Given the description of an element on the screen output the (x, y) to click on. 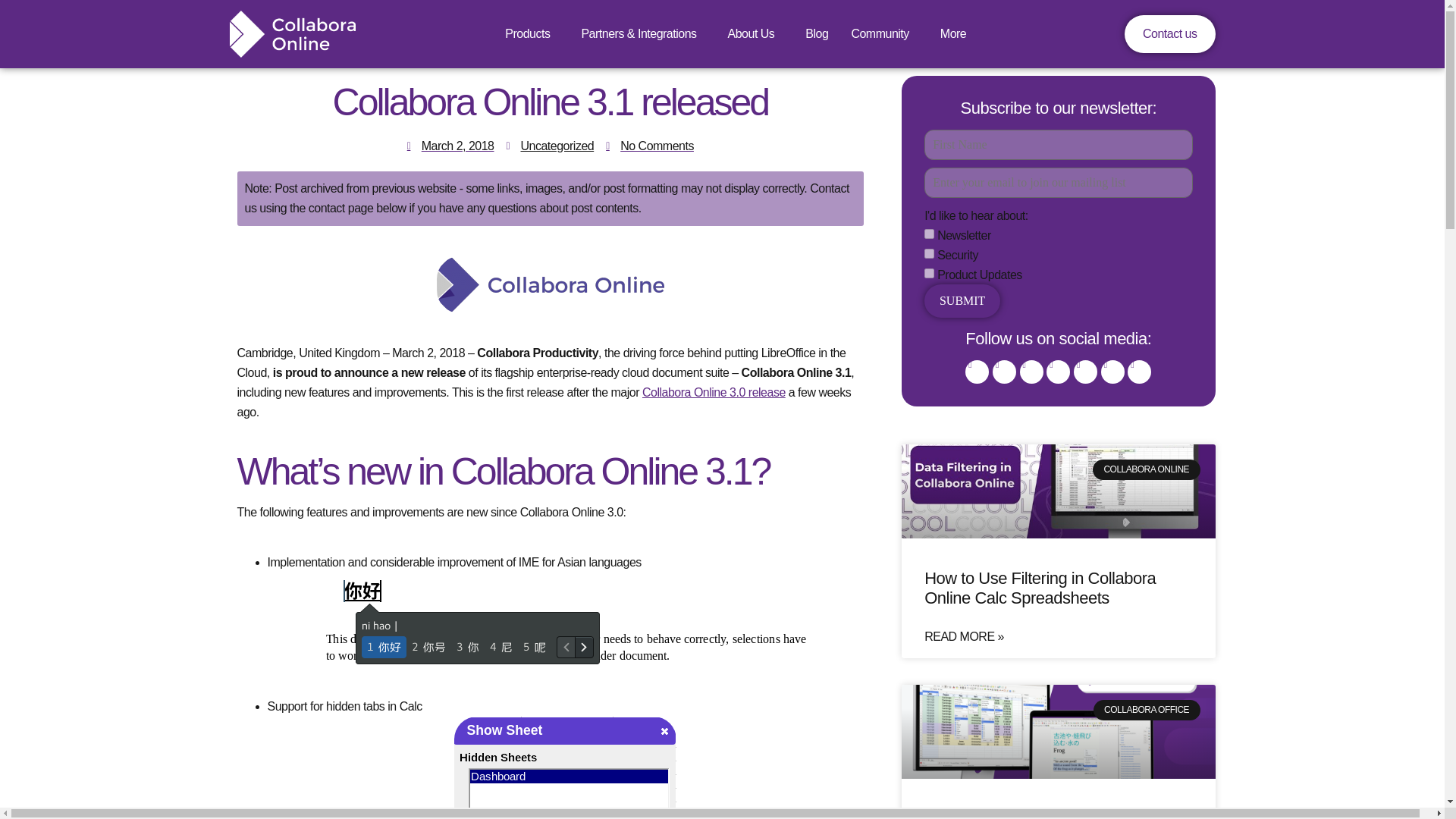
Products (531, 34)
Product Updates (929, 273)
Newsletter (929, 234)
Security (929, 253)
